Given the description of an element on the screen output the (x, y) to click on. 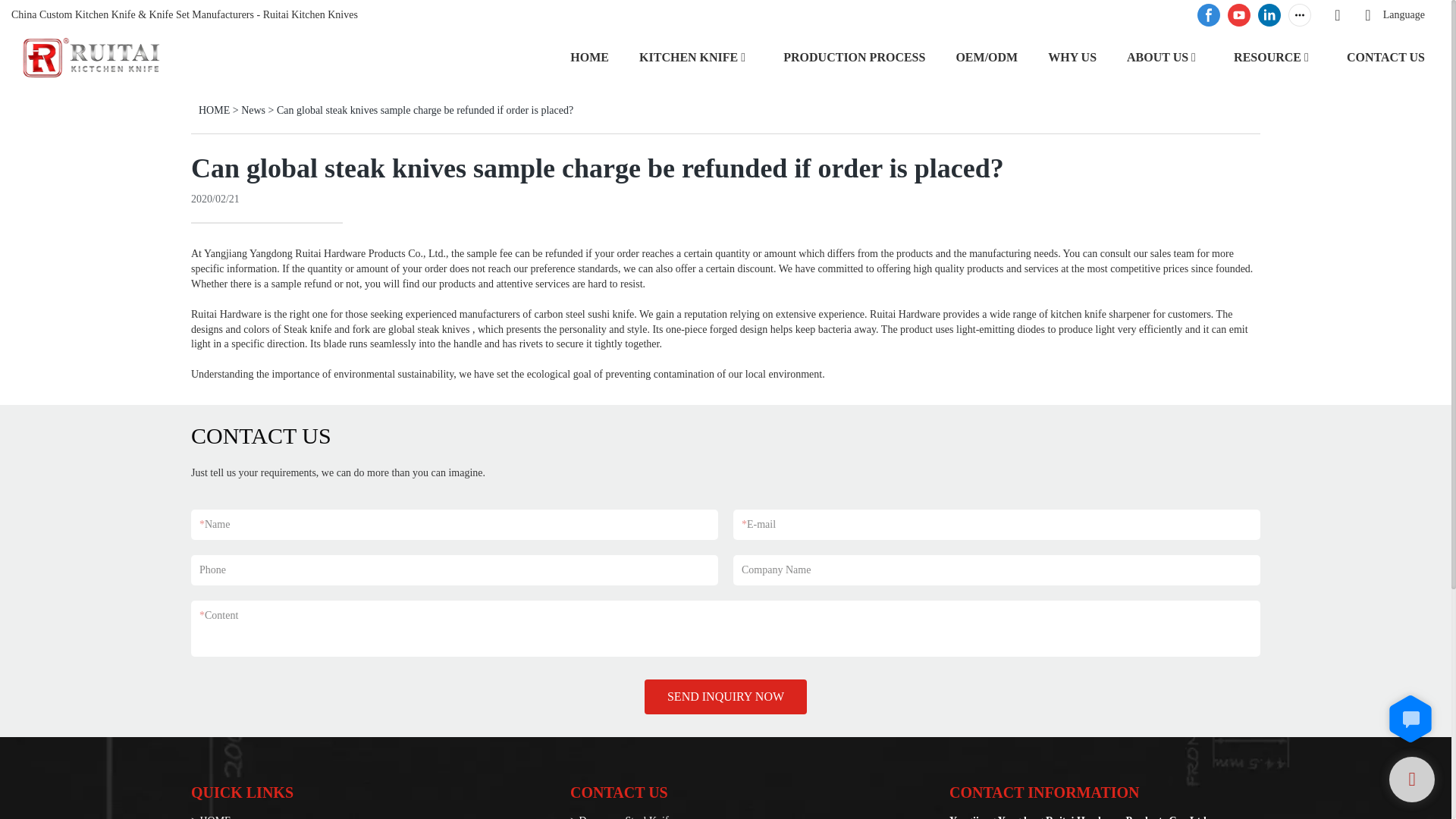
CONTACT US (1385, 56)
WHY US (1072, 56)
HOME (214, 110)
ABOUT US (1157, 56)
HOME (589, 56)
RESOURCE (1267, 56)
PRODUCTION PROCESS (853, 56)
linkedin (1268, 15)
facebook (1208, 15)
KITCHEN KNIFE (688, 56)
youtube (1238, 15)
